Given the description of an element on the screen output the (x, y) to click on. 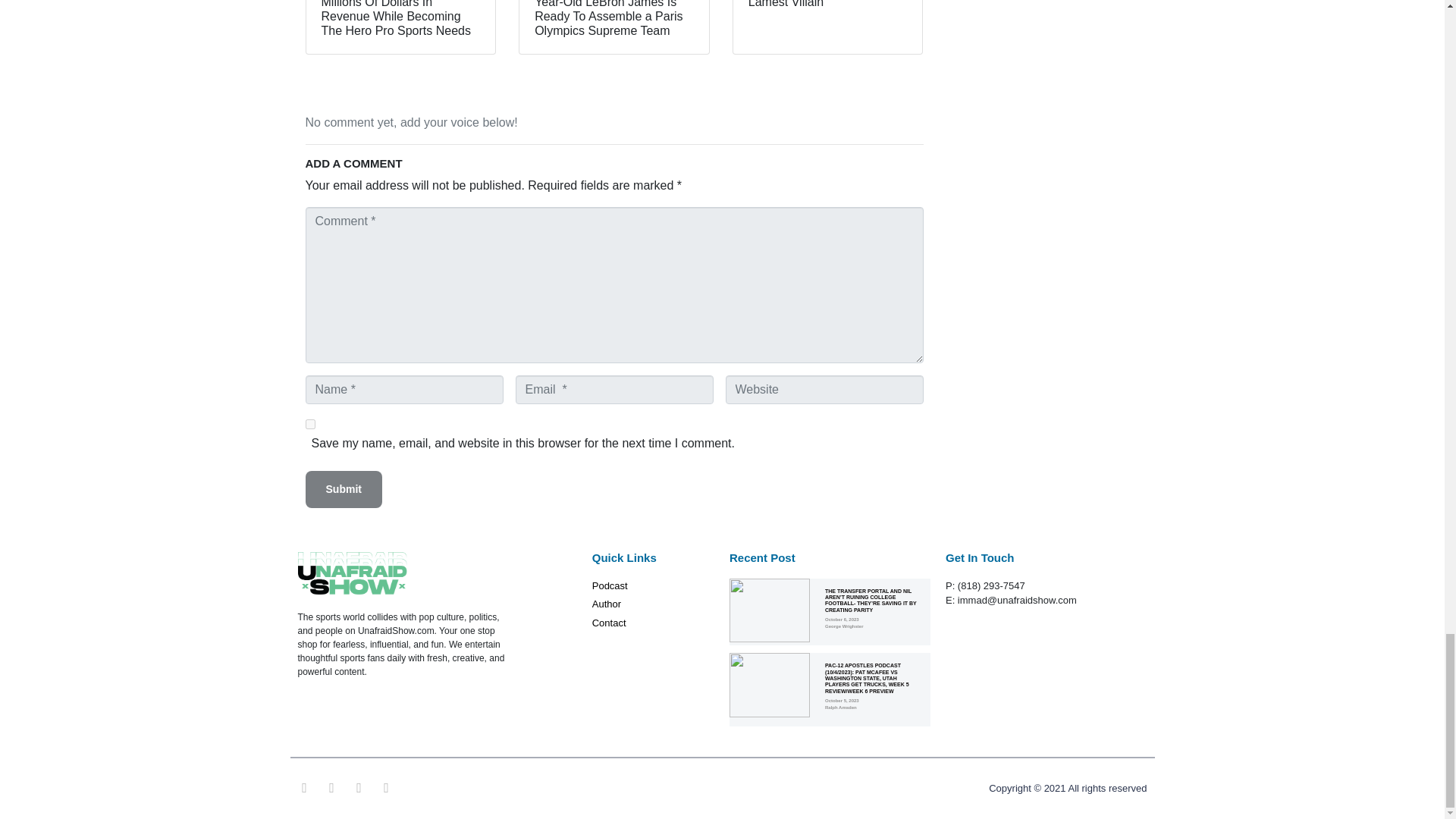
yes (309, 424)
